Given the description of an element on the screen output the (x, y) to click on. 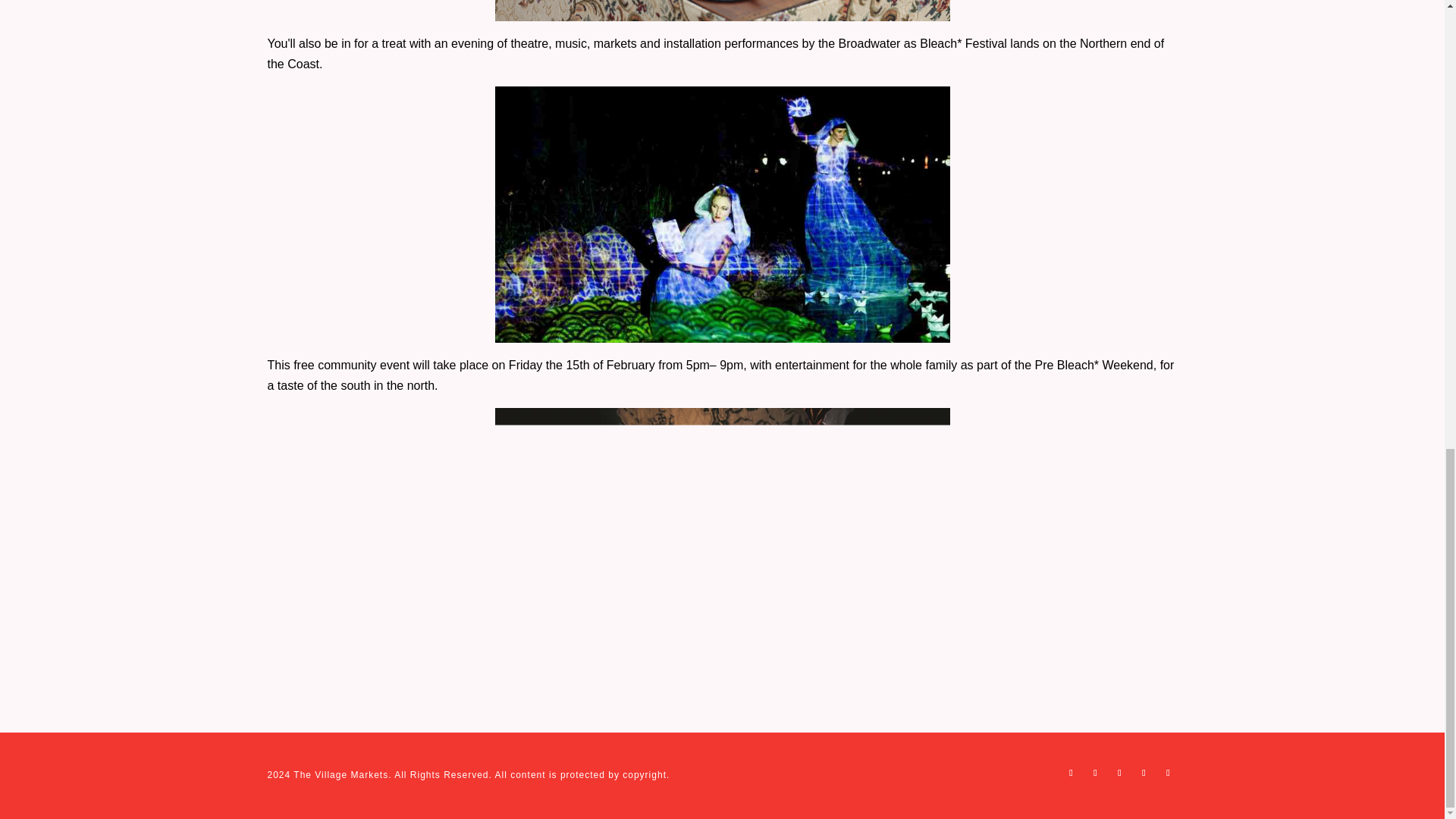
Follow on Vimeo (1143, 772)
Follow on Instagram (1094, 772)
Follow on Facebook (1070, 772)
Follow on Youtube (1167, 772)
Follow on Pinterest (1118, 772)
